Given the description of an element on the screen output the (x, y) to click on. 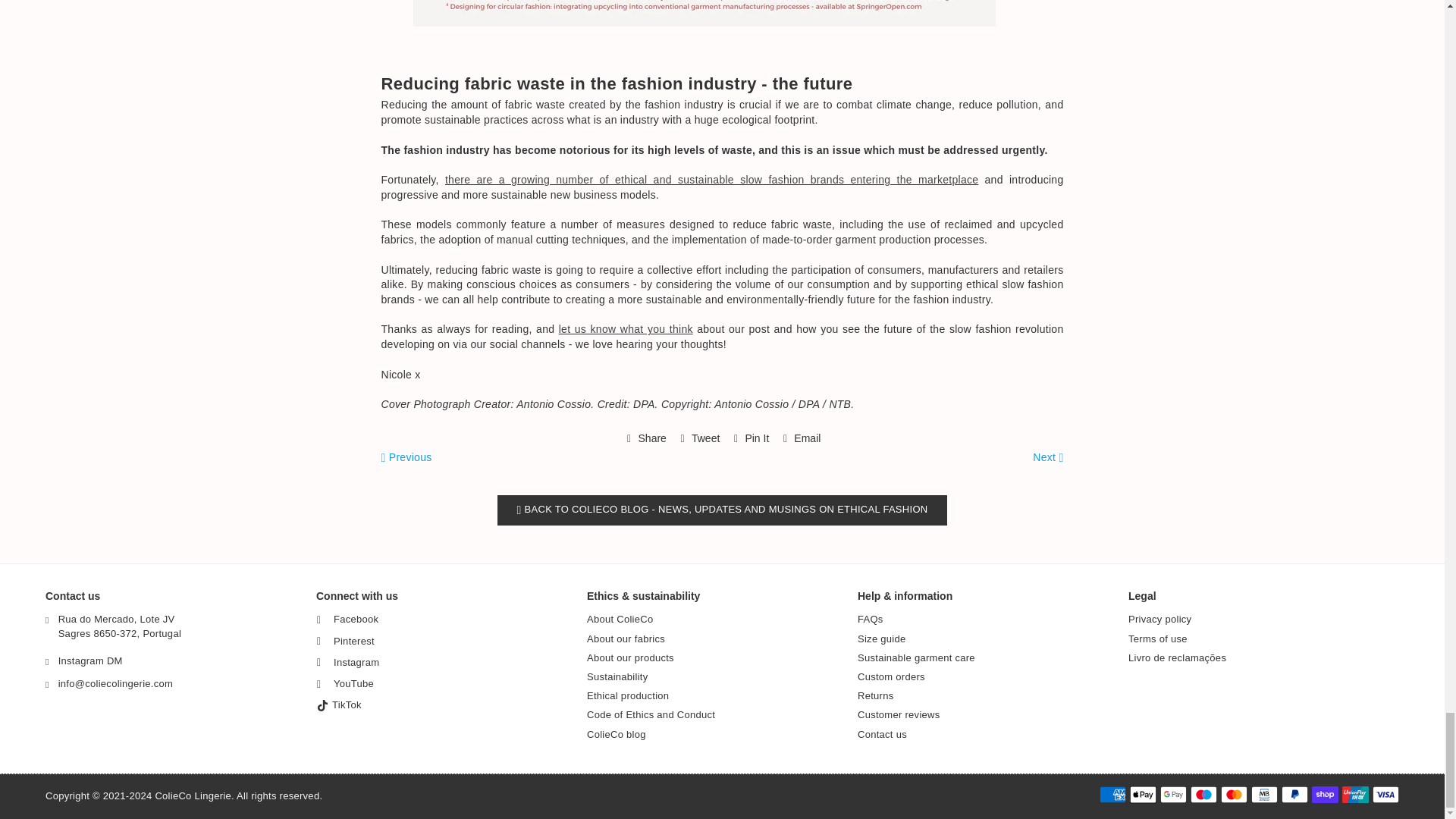
American Express (1112, 794)
Mastercard (1234, 794)
Union Pay (1355, 794)
Google Pay (1173, 794)
PayPal (1294, 794)
Apple Pay (1142, 794)
Visa (1386, 794)
Shop Pay (1324, 794)
Maestro (1204, 794)
Multibanco (1264, 794)
